Given the description of an element on the screen output the (x, y) to click on. 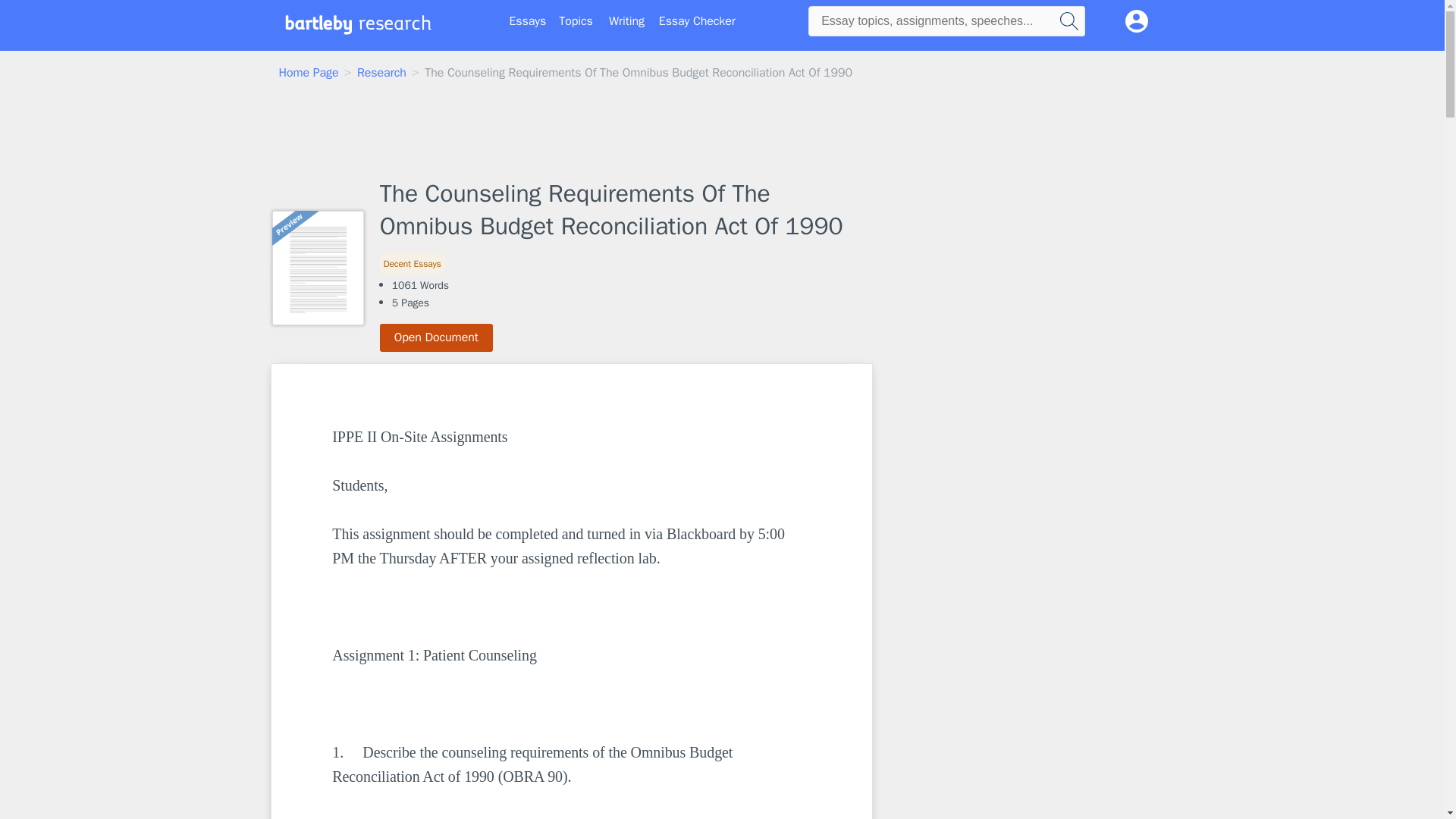
Research (381, 72)
Open Document (436, 337)
Home Page (309, 72)
Writing (626, 20)
Essay Checker (697, 20)
Topics (575, 20)
Essays (528, 20)
